Given the description of an element on the screen output the (x, y) to click on. 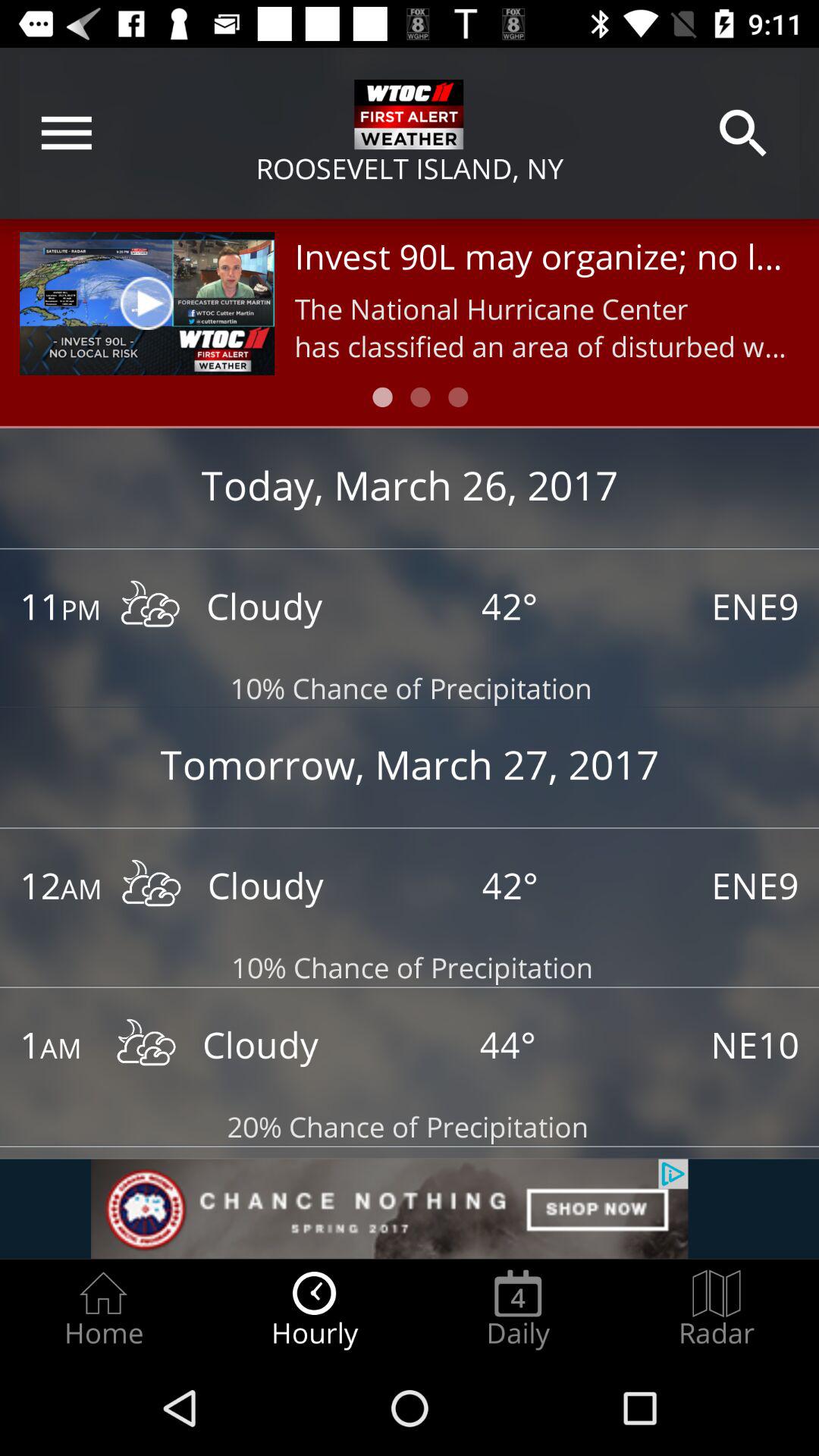
choose radio button next to hourly icon (518, 1309)
